Given the description of an element on the screen output the (x, y) to click on. 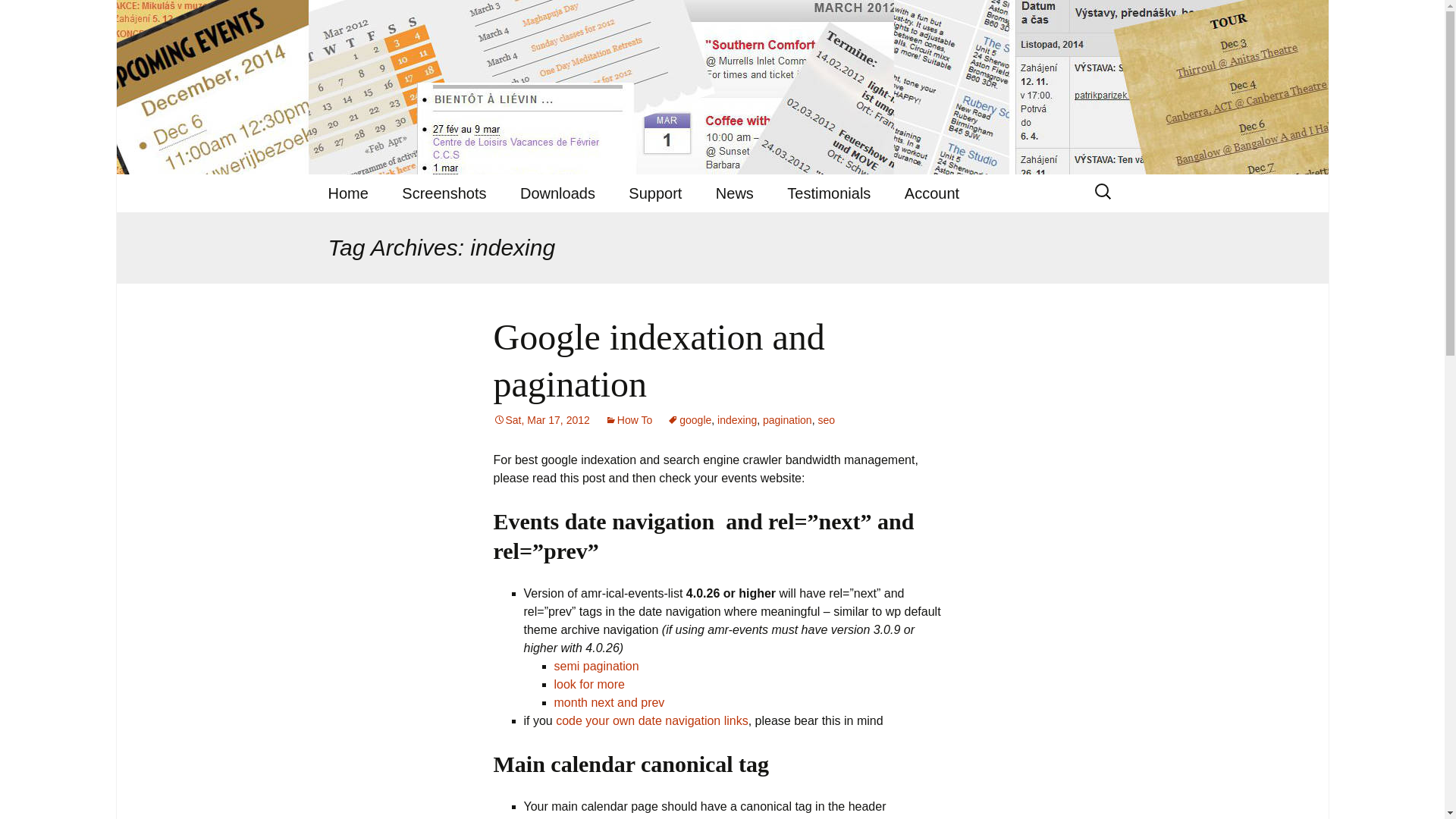
Testimonials (828, 193)
Features (388, 231)
Screenshots (443, 193)
Downloads (557, 193)
Home (347, 193)
Permalink to Google indexation and pagination (541, 419)
Documentation (688, 231)
News (734, 193)
Support (654, 193)
Checkout (965, 231)
a simple google style events plugin date navigation (588, 684)
